Given the description of an element on the screen output the (x, y) to click on. 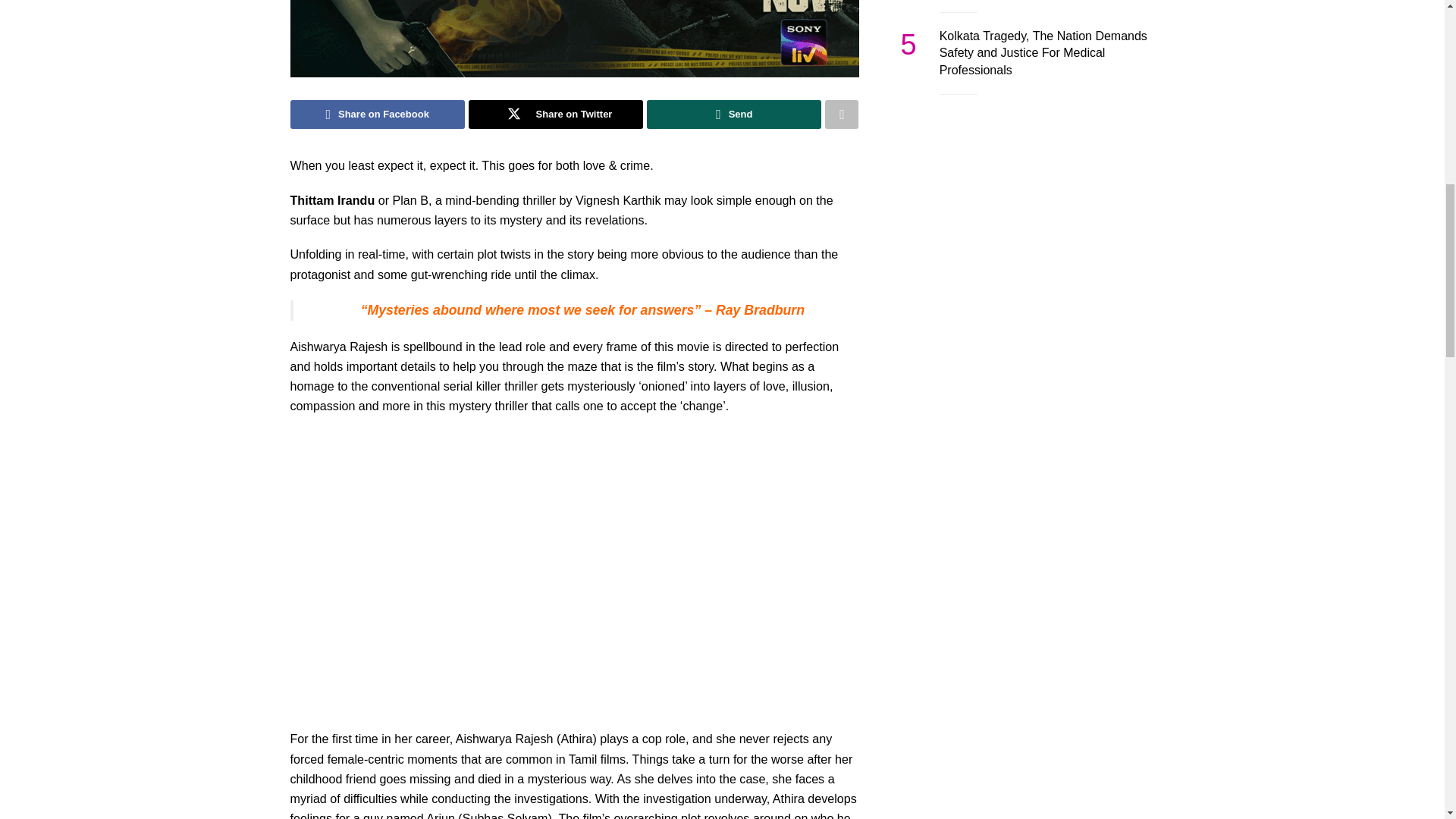
Send (733, 113)
Share on Facebook (376, 113)
Share on Twitter (555, 113)
